Given the description of an element on the screen output the (x, y) to click on. 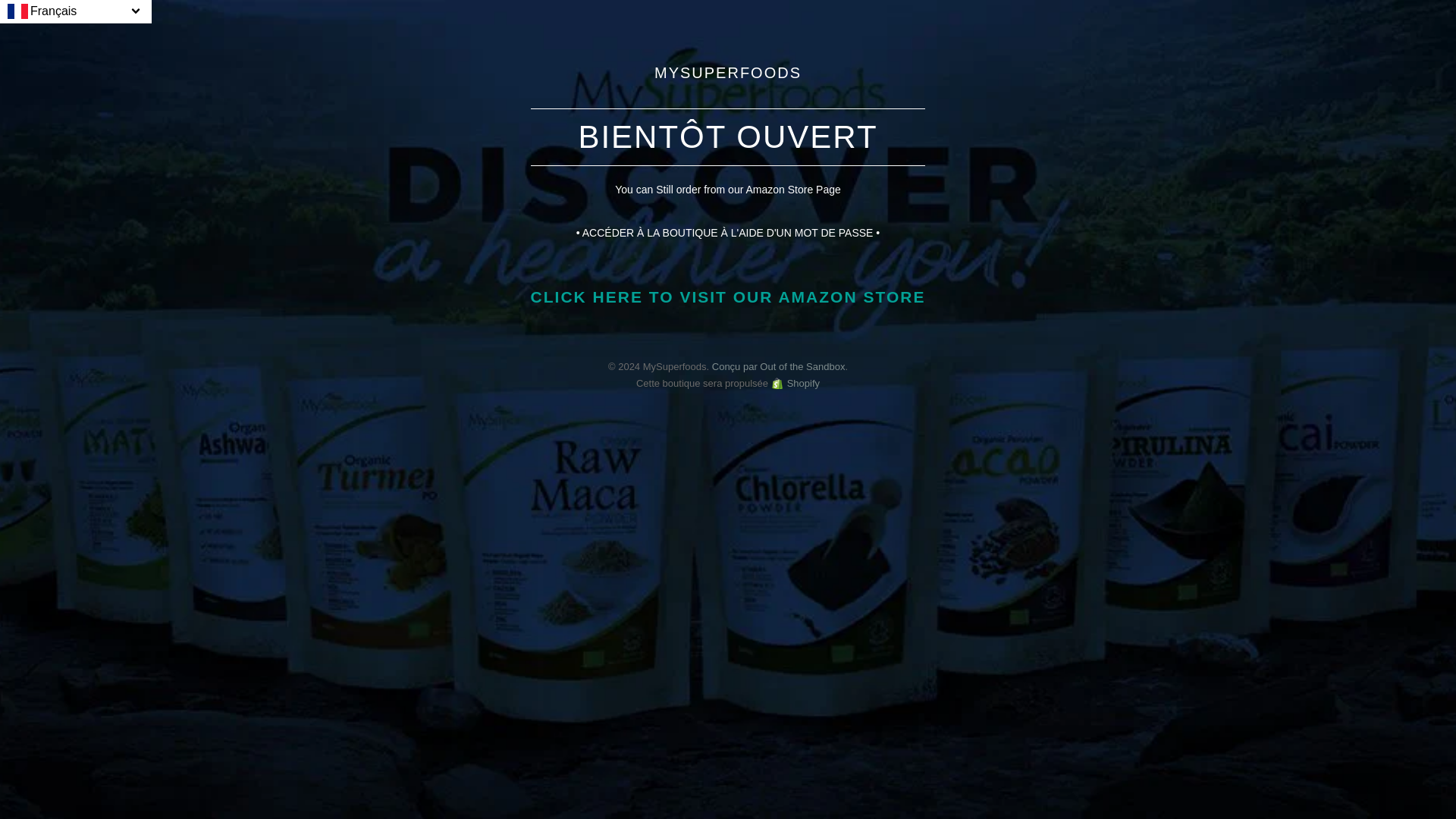
Our Amazon Store (728, 296)
CLICK HERE TO VISIT OUR AMAZON STORE (728, 296)
